Given the description of an element on the screen output the (x, y) to click on. 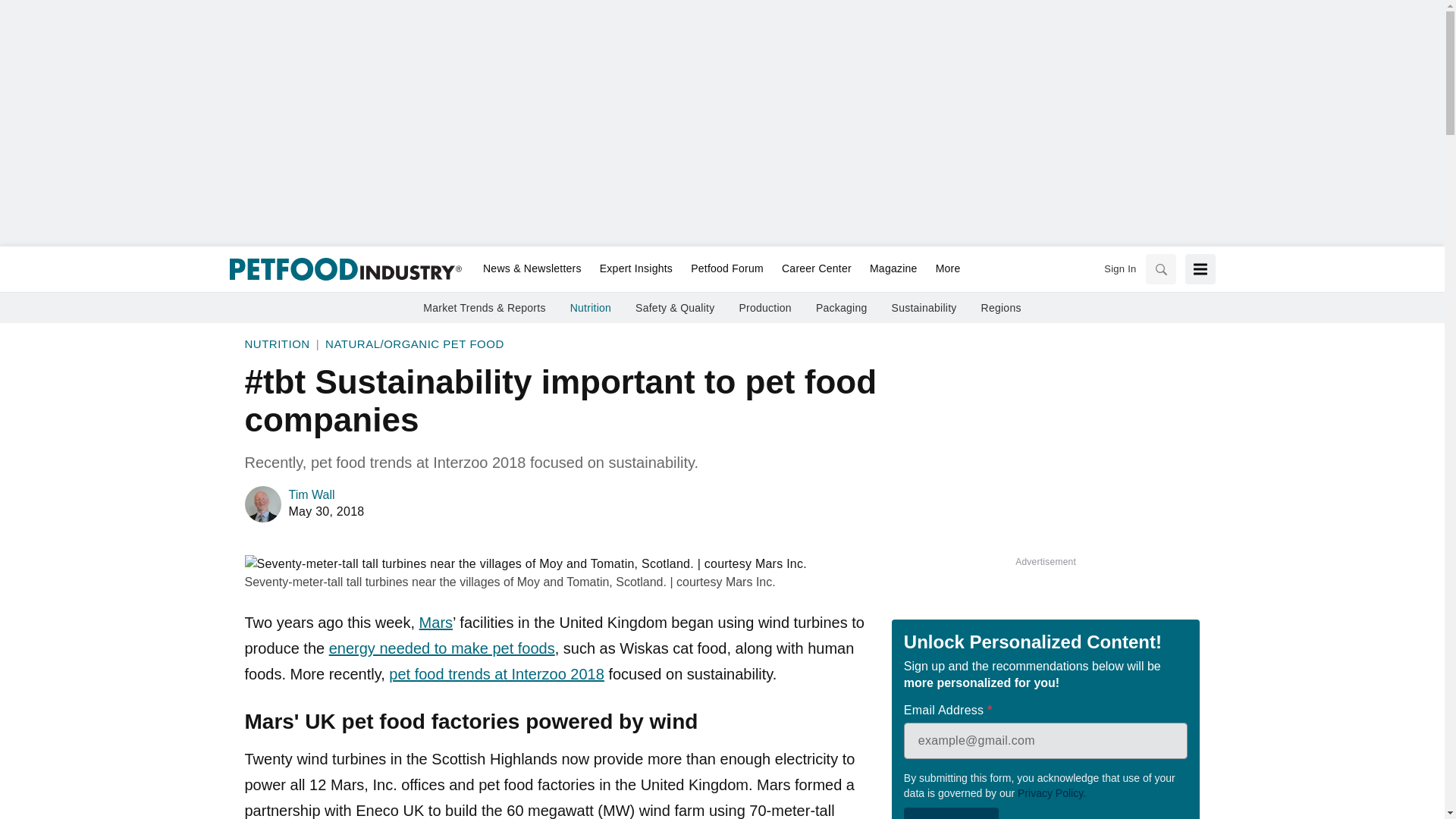
Petfood Forum (727, 269)
Magazine (893, 269)
Nutrition (276, 343)
Production (764, 307)
Sustainability (923, 307)
Packaging (841, 307)
Expert Insights (636, 269)
Regions (1001, 307)
Nutrition (590, 307)
Career Center (816, 269)
